Given the description of an element on the screen output the (x, y) to click on. 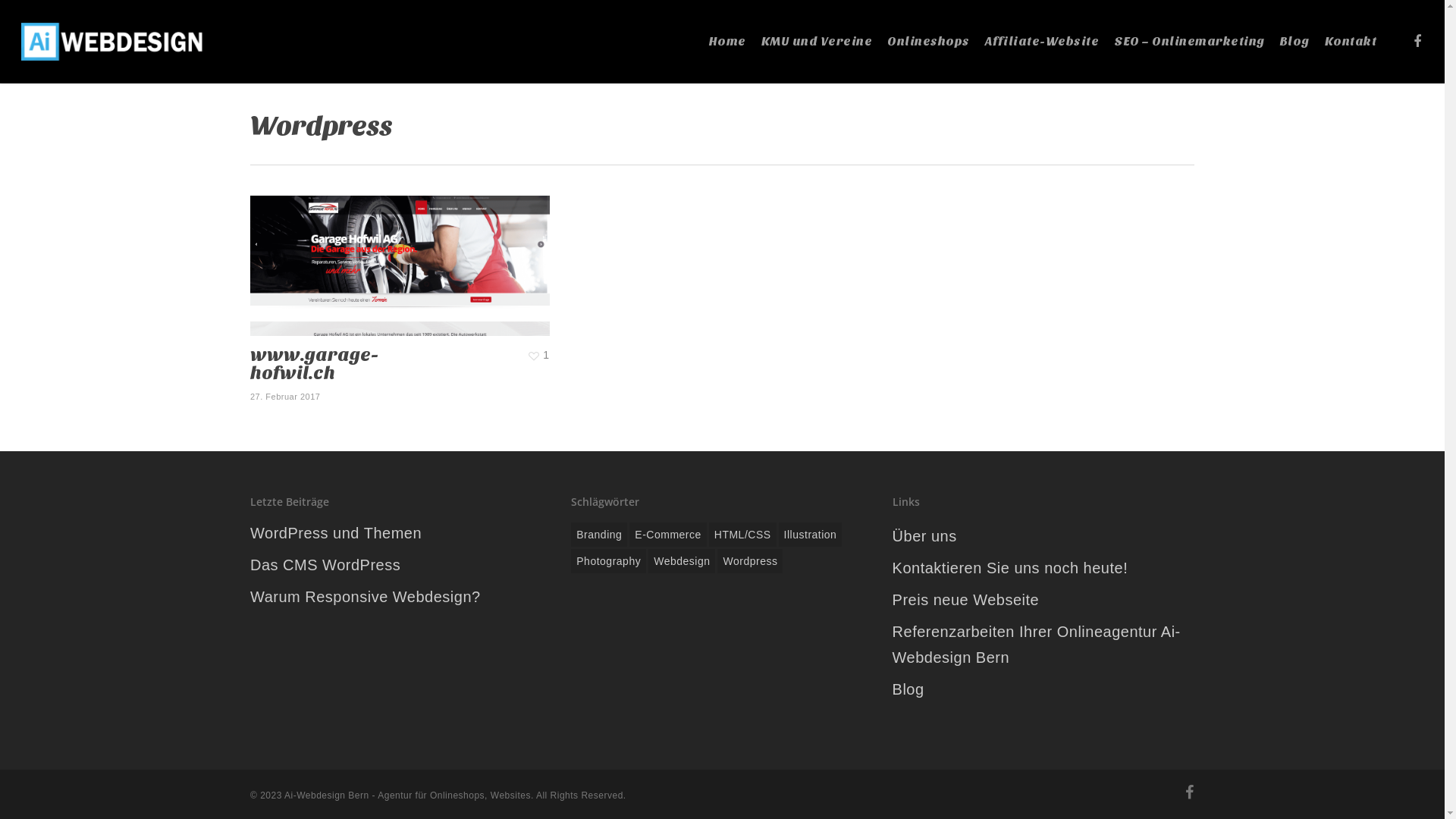
Photography Element type: text (608, 561)
Onlineshops Element type: text (928, 41)
facebook Element type: text (1416, 41)
Wordpress Element type: text (749, 561)
Warum Responsive Webdesign? Element type: text (401, 596)
KMU und Vereine Element type: text (816, 41)
Illustration Element type: text (810, 534)
Blog Element type: text (1294, 41)
1 Element type: text (538, 352)
Das CMS WordPress Element type: text (401, 564)
Referenzarbeiten Ihrer Onlineagentur Ai-Webdesign Bern Element type: text (1043, 644)
Affiliate-Website Element type: text (1041, 41)
Kontakt Element type: text (1350, 41)
E-Commerce Element type: text (667, 534)
WordPress und Themen Element type: text (401, 533)
Kontaktieren Sie uns noch heute! Element type: text (1043, 567)
Preis neue Webseite Element type: text (1043, 599)
Home Element type: text (726, 41)
HTML/CSS Element type: text (742, 534)
Branding Element type: text (599, 534)
facebook Element type: text (1189, 793)
Blog Element type: text (1043, 689)
Webdesign Element type: text (681, 561)
